Given the description of an element on the screen output the (x, y) to click on. 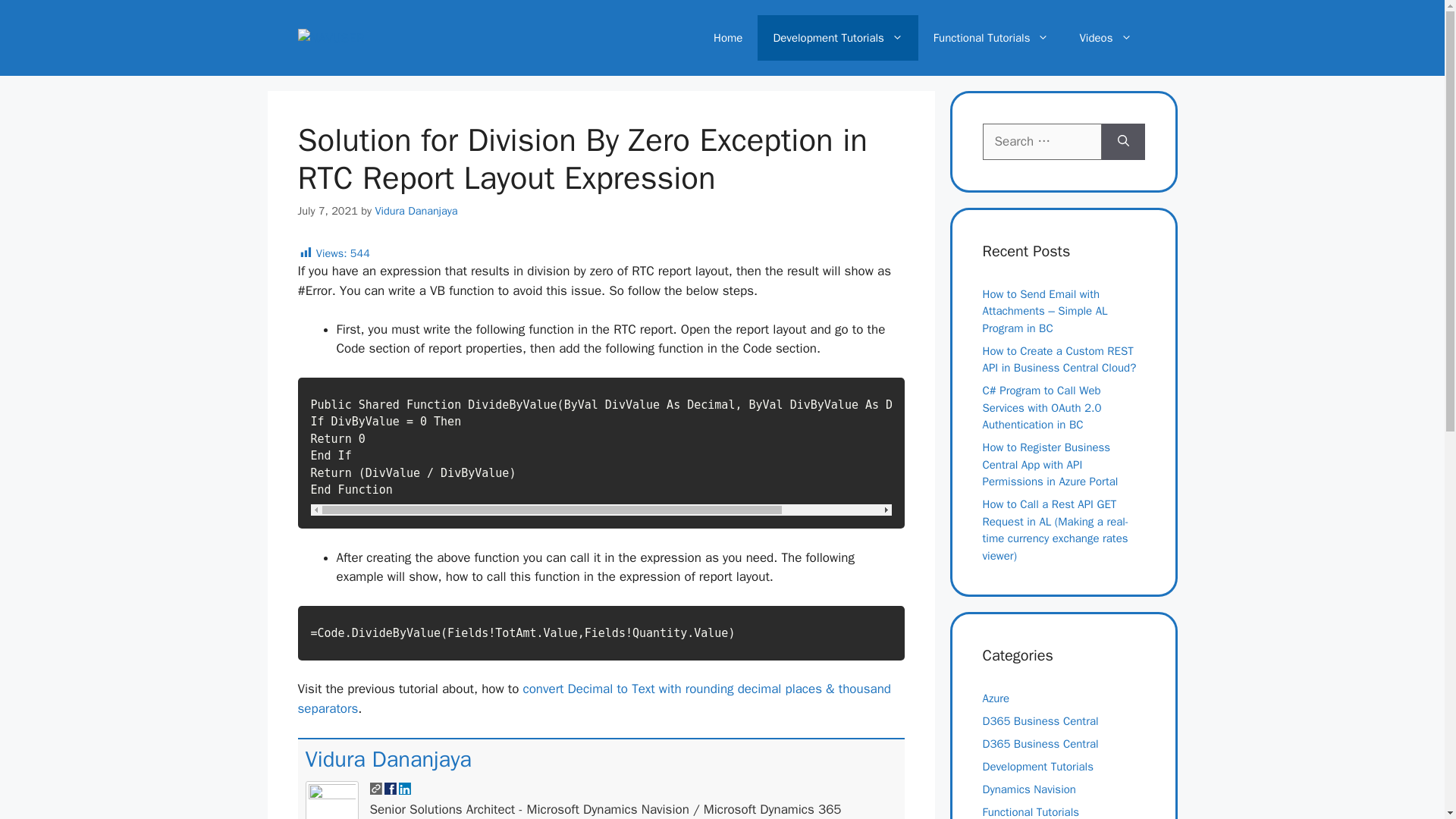
Functional Tutorials (991, 37)
All posts by Vidura Dananjaya (387, 759)
Development Tutorials (837, 37)
How to Create a Custom REST API in Business Central Cloud? (1059, 359)
NAVUSER (330, 38)
View all posts by Vidura Dananjaya (415, 210)
Vidura Dananjaya (387, 759)
Videos (1105, 37)
NAVUSER (330, 37)
Home (727, 37)
Vidura Dananjaya (415, 210)
